Given the description of an element on the screen output the (x, y) to click on. 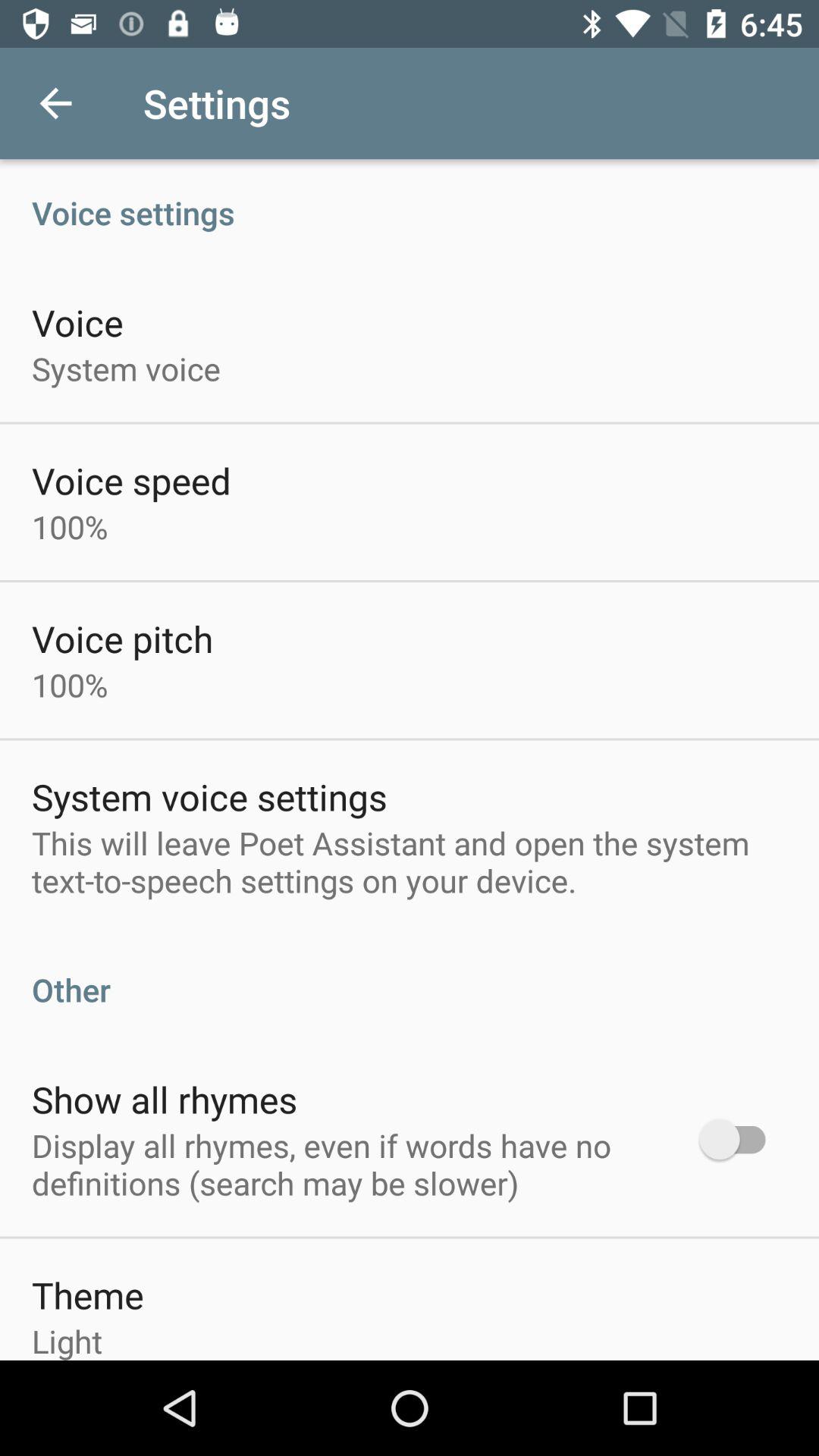
turn off icon to the left of the settings (55, 103)
